Given the description of an element on the screen output the (x, y) to click on. 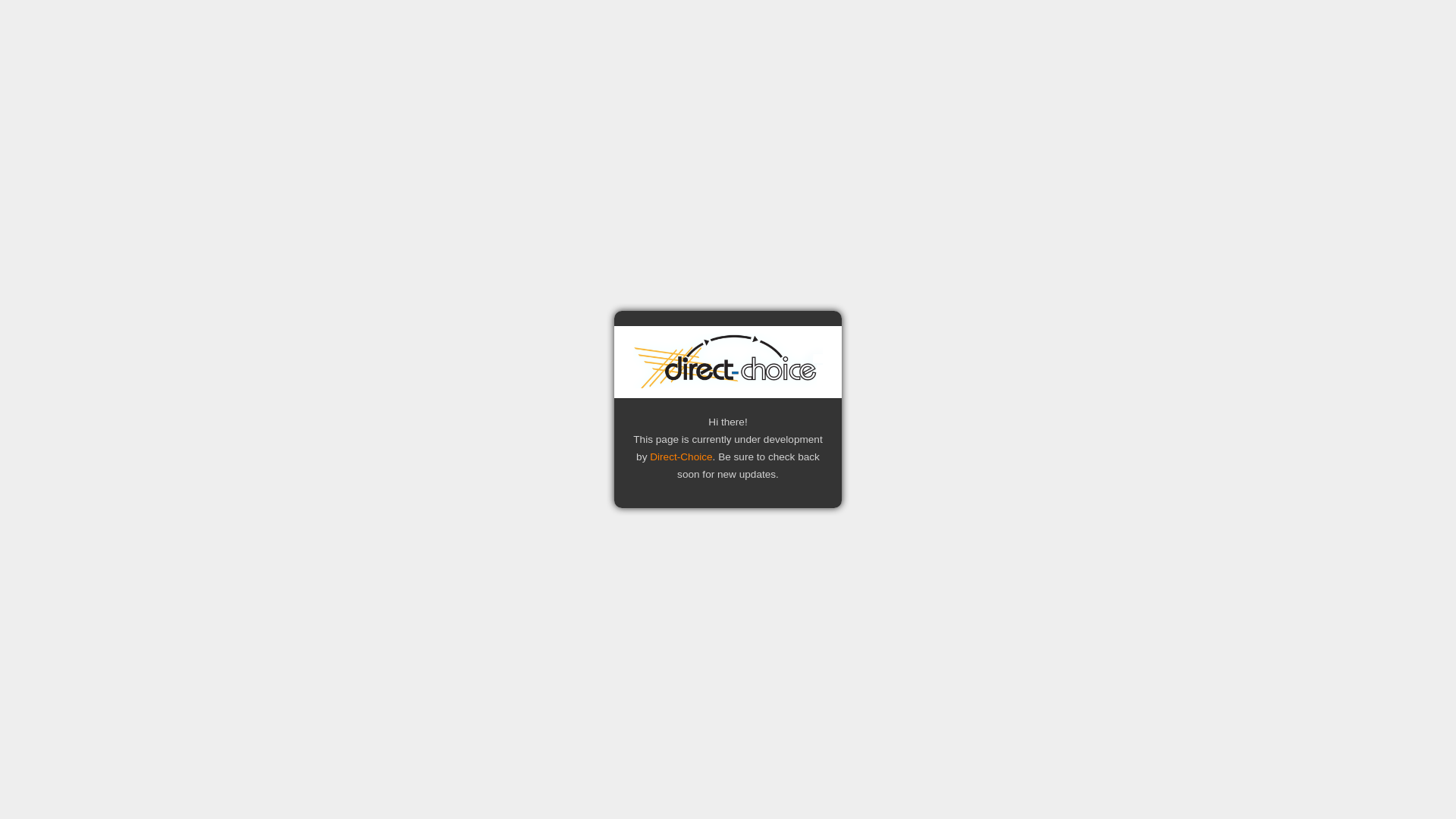
Direct-Choice Element type: text (680, 456)
